Given the description of an element on the screen output the (x, y) to click on. 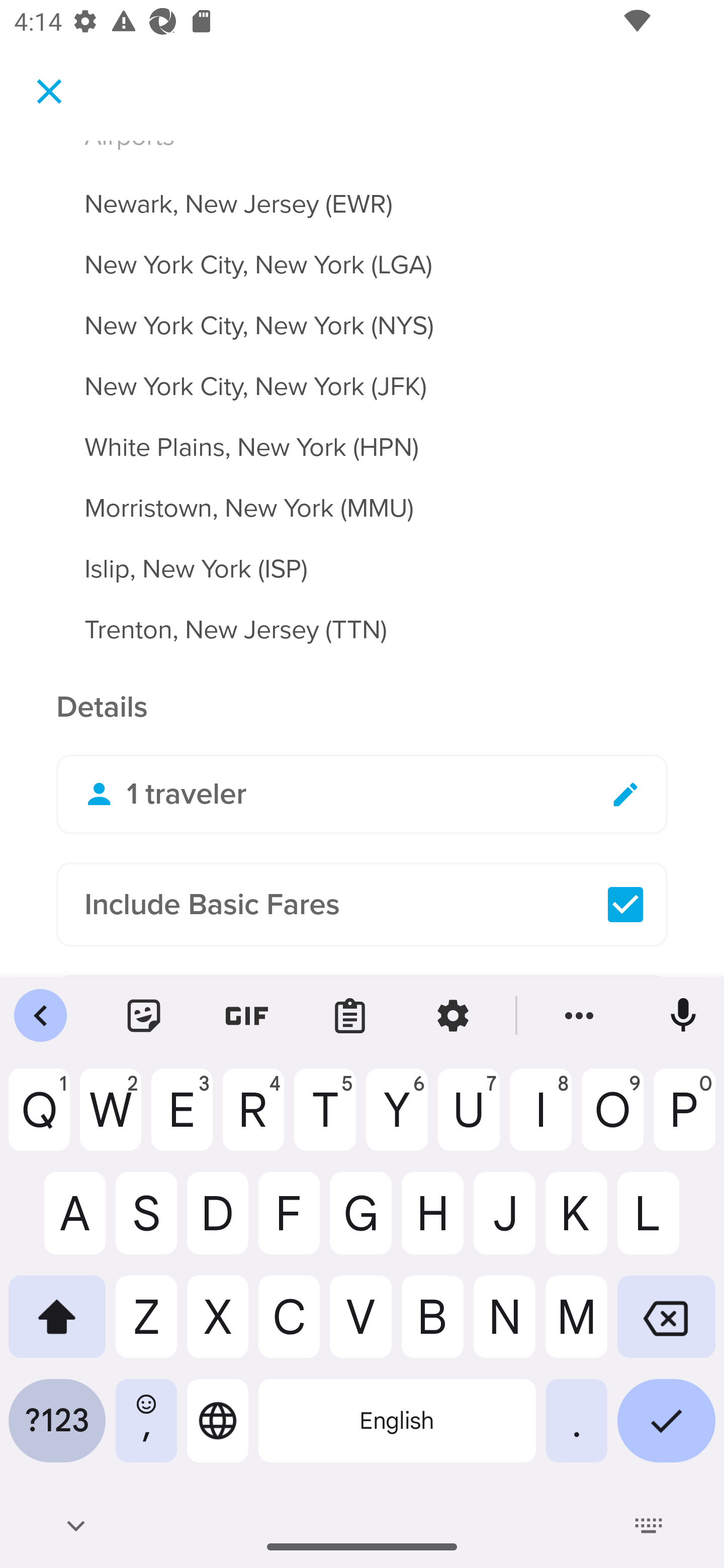
Cancel (49, 90)
Newark, New Jersey (EWR) (361, 192)
New York City, New York (LGA) (361, 252)
New York City, New York (NYS) (361, 313)
New York City, New York (JFK) (361, 375)
White Plains, New York (HPN) (361, 435)
Morristown, New York (MMU) (361, 495)
Islip, New York (ISP) (361, 557)
Trenton, New Jersey (TTN) (361, 630)
1 traveler Edit Travelers (361, 794)
Include Basic Fares (361, 904)
